Given the description of an element on the screen output the (x, y) to click on. 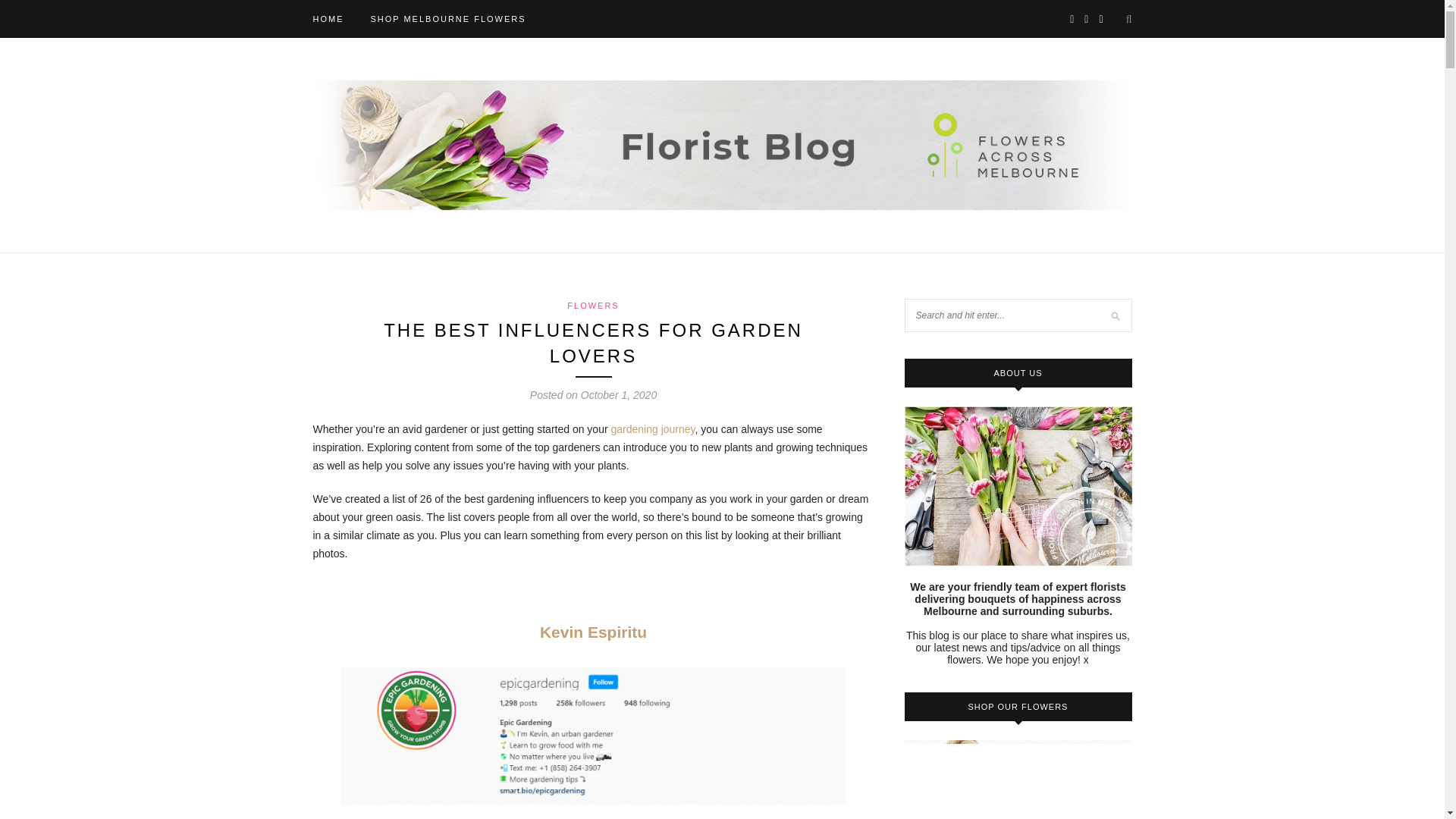
Kevin Espiritu (593, 631)
SHOP MELBOURNE FLOWERS (447, 18)
FLOWERS (592, 305)
Shop Flowers (447, 18)
gardening journey (653, 428)
